Given the description of an element on the screen output the (x, y) to click on. 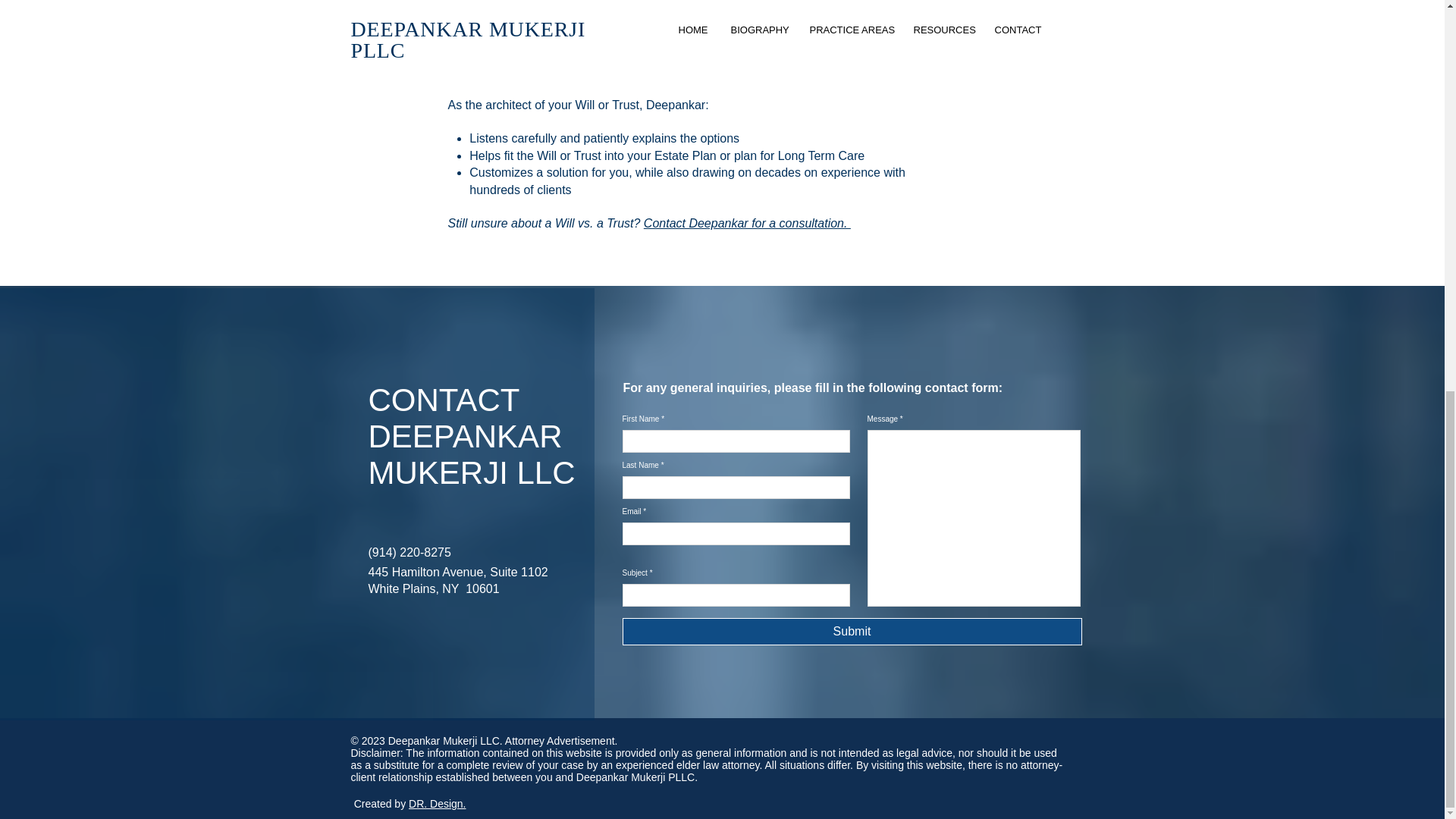
Submit (851, 631)
Contact Deepankar for a consultation.  (746, 223)
DR. Design. (437, 803)
